Given the description of an element on the screen output the (x, y) to click on. 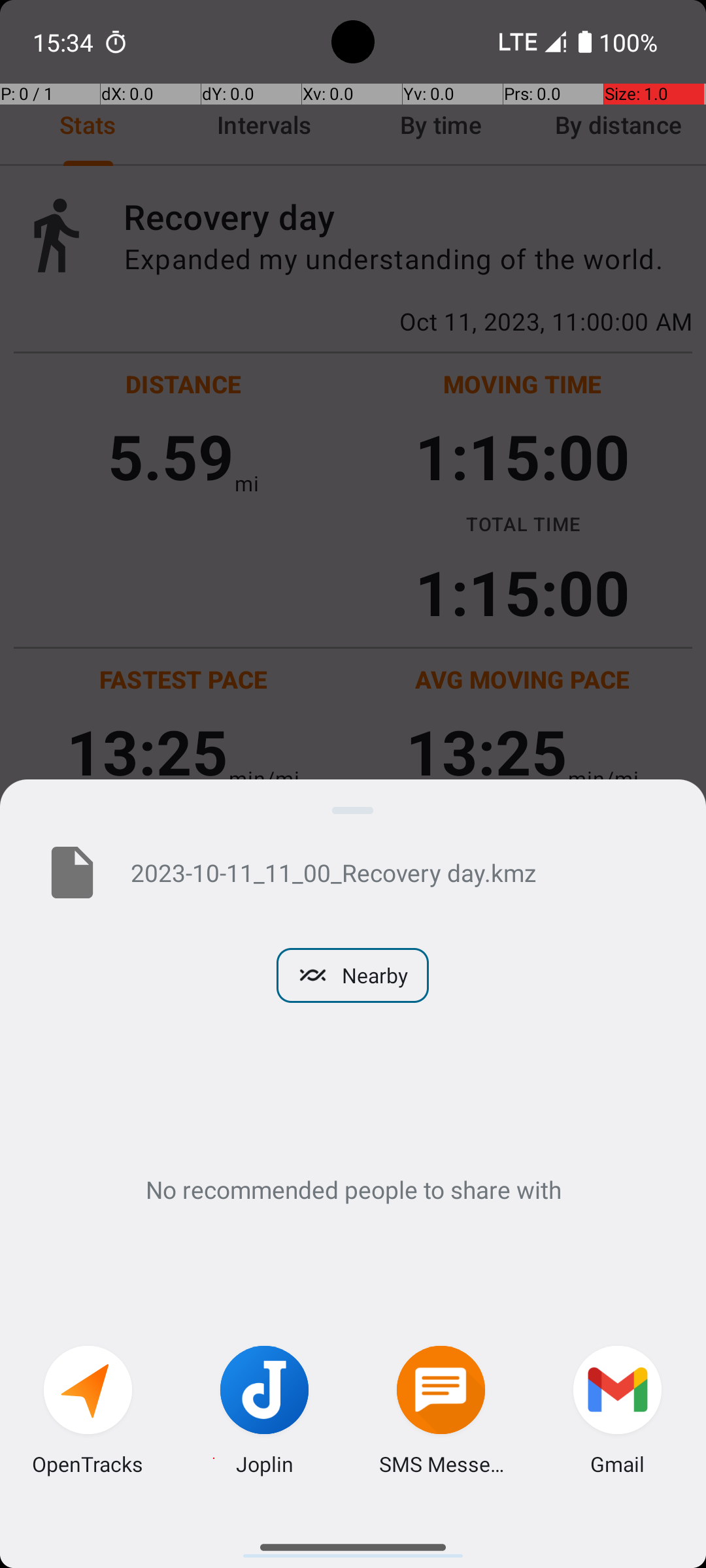
2023-10-11_11_00_Recovery day.kmz Element type: android.widget.TextView (397, 872)
